Given the description of an element on the screen output the (x, y) to click on. 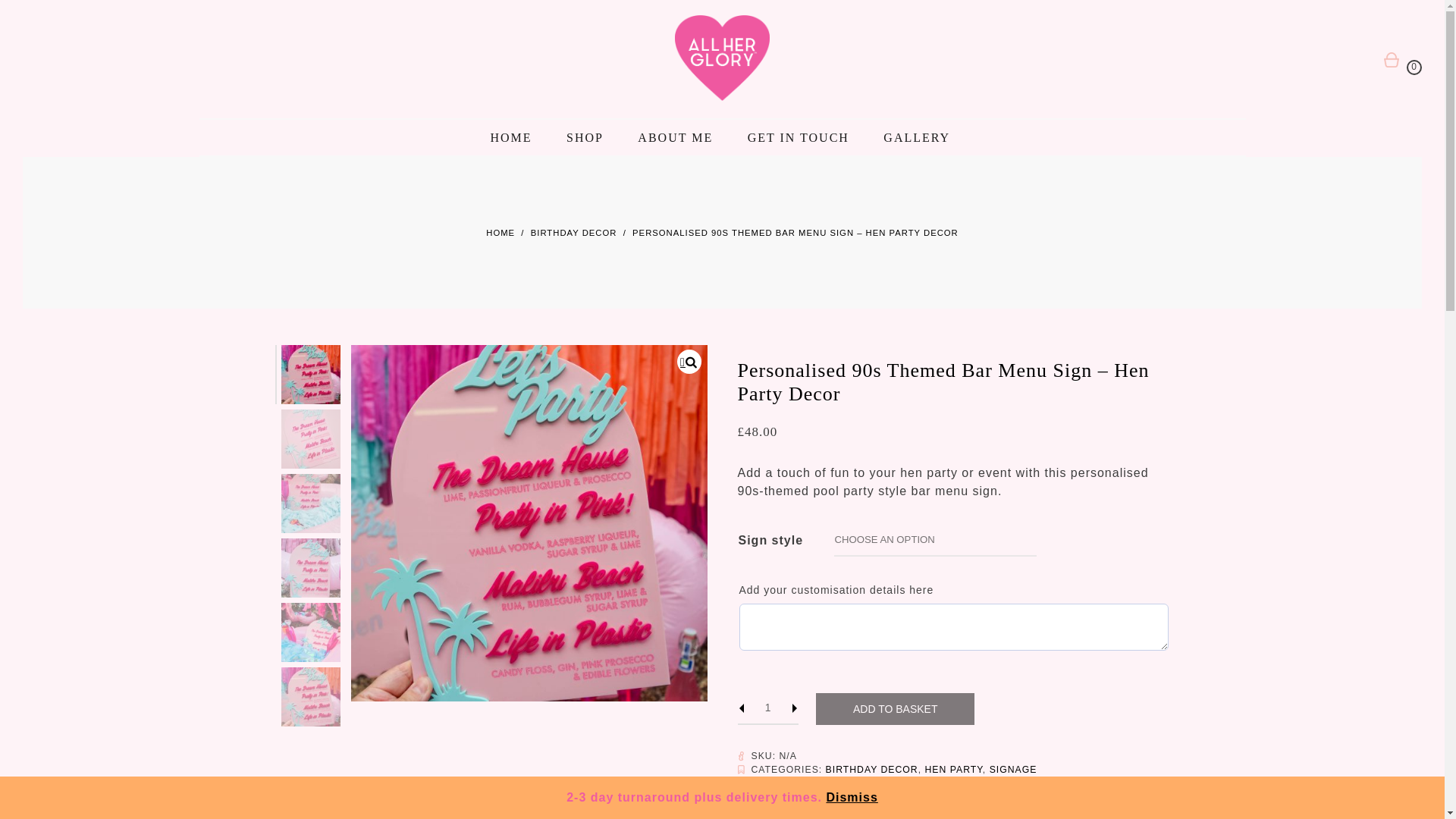
BIRTHDAY DECOR (574, 232)
GET IN TOUCH (798, 137)
ADD TO BASKET (895, 708)
ABOUT ME (675, 137)
SHOP (585, 137)
1 (766, 707)
View your shopping cart (1414, 67)
HOME (500, 232)
SIGNAGE (1013, 769)
HOME (510, 137)
All Her Glory (129, 60)
GALLERY (916, 137)
HEN PARTY (953, 769)
BIRTHDAY DECOR (871, 769)
